Given the description of an element on the screen output the (x, y) to click on. 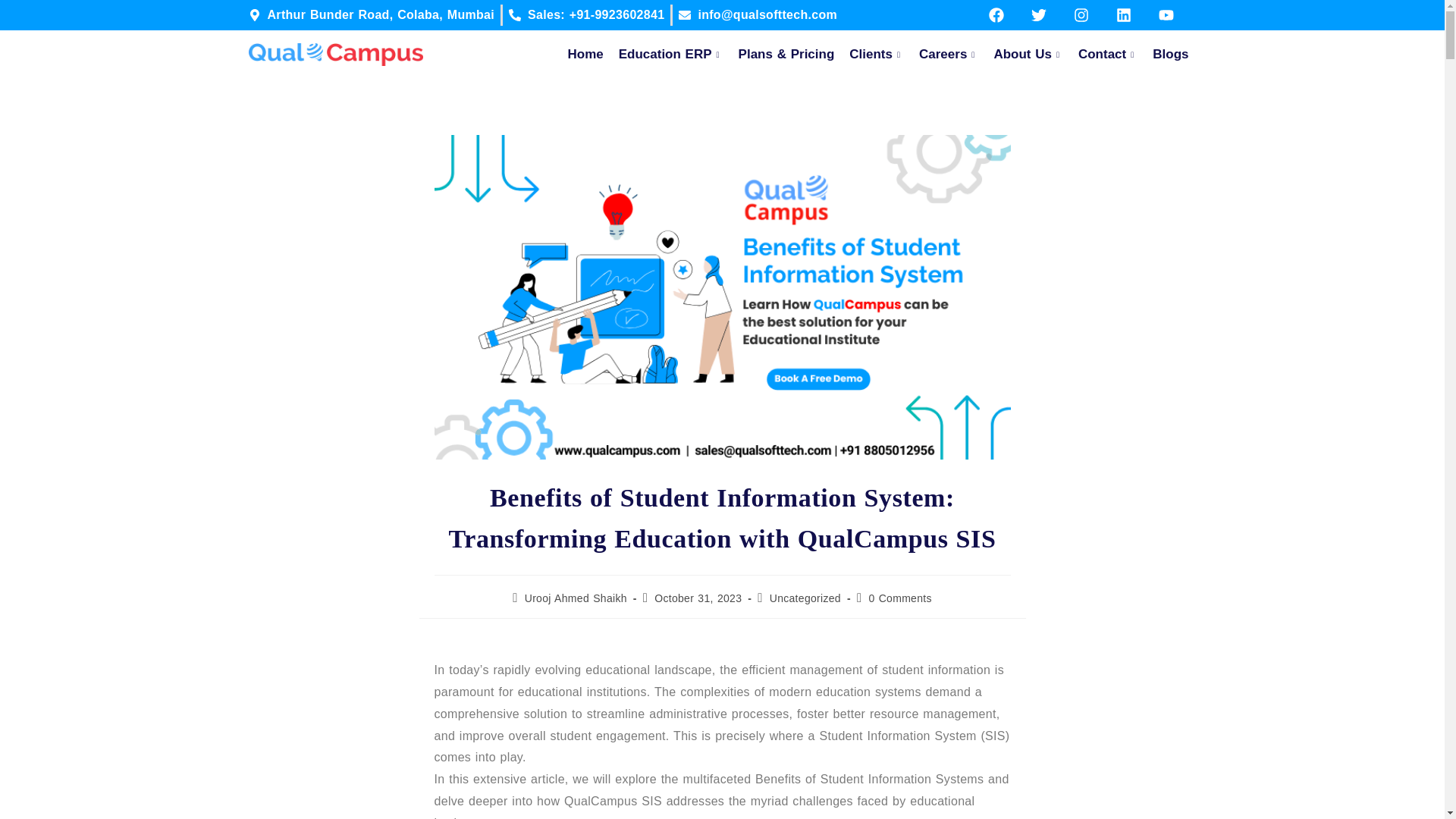
Posts by Urooj Ahmed Shaikh (575, 598)
Home (584, 54)
Arthur Bunder Road, Colaba, Mumbai (371, 15)
Education ERP (670, 54)
